Given the description of an element on the screen output the (x, y) to click on. 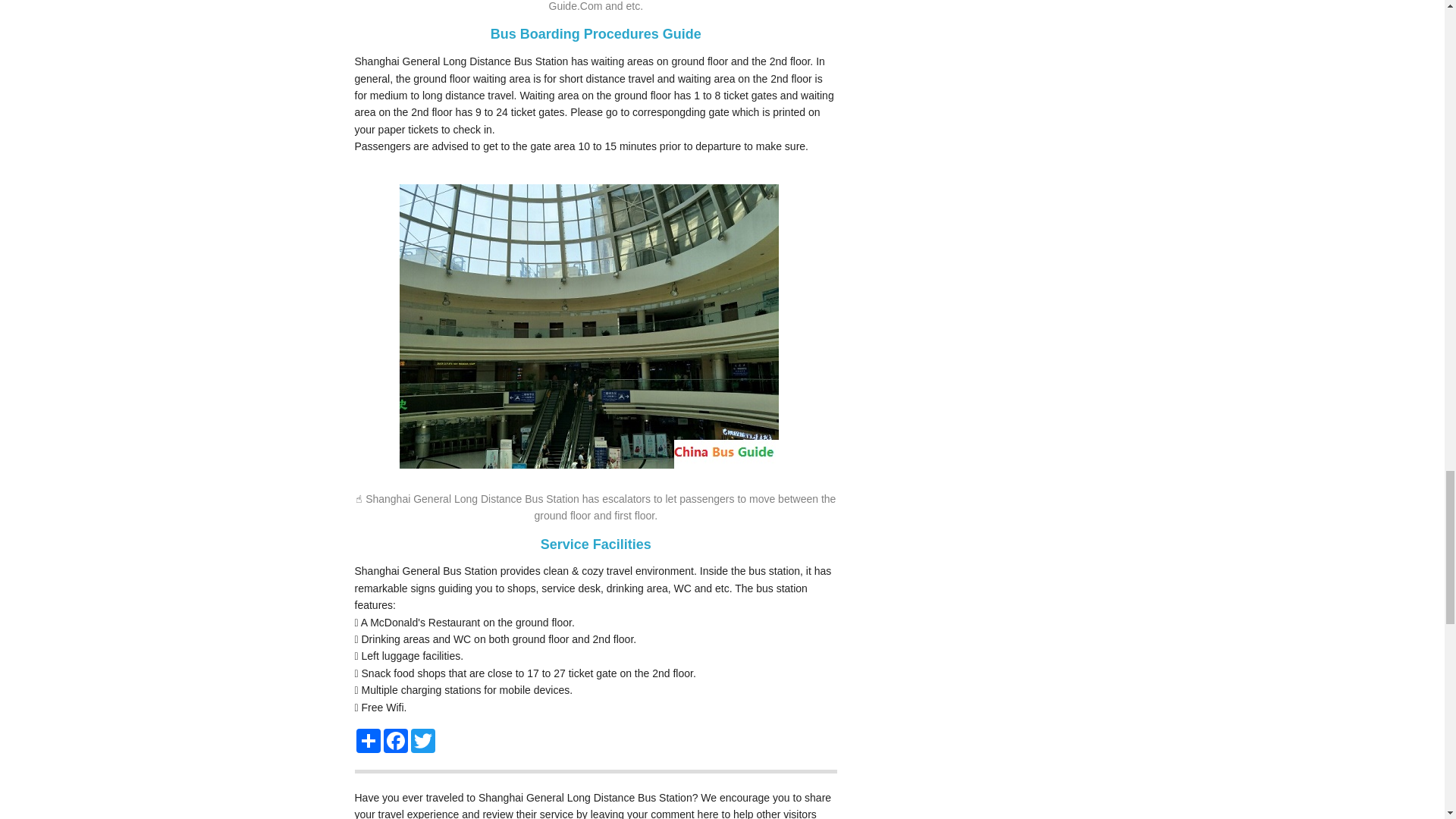
Twitter (422, 740)
Bus Boarding Procedures Guide (595, 33)
Share (368, 740)
Facebook (395, 740)
Service Facilities (595, 544)
